Given the description of an element on the screen output the (x, y) to click on. 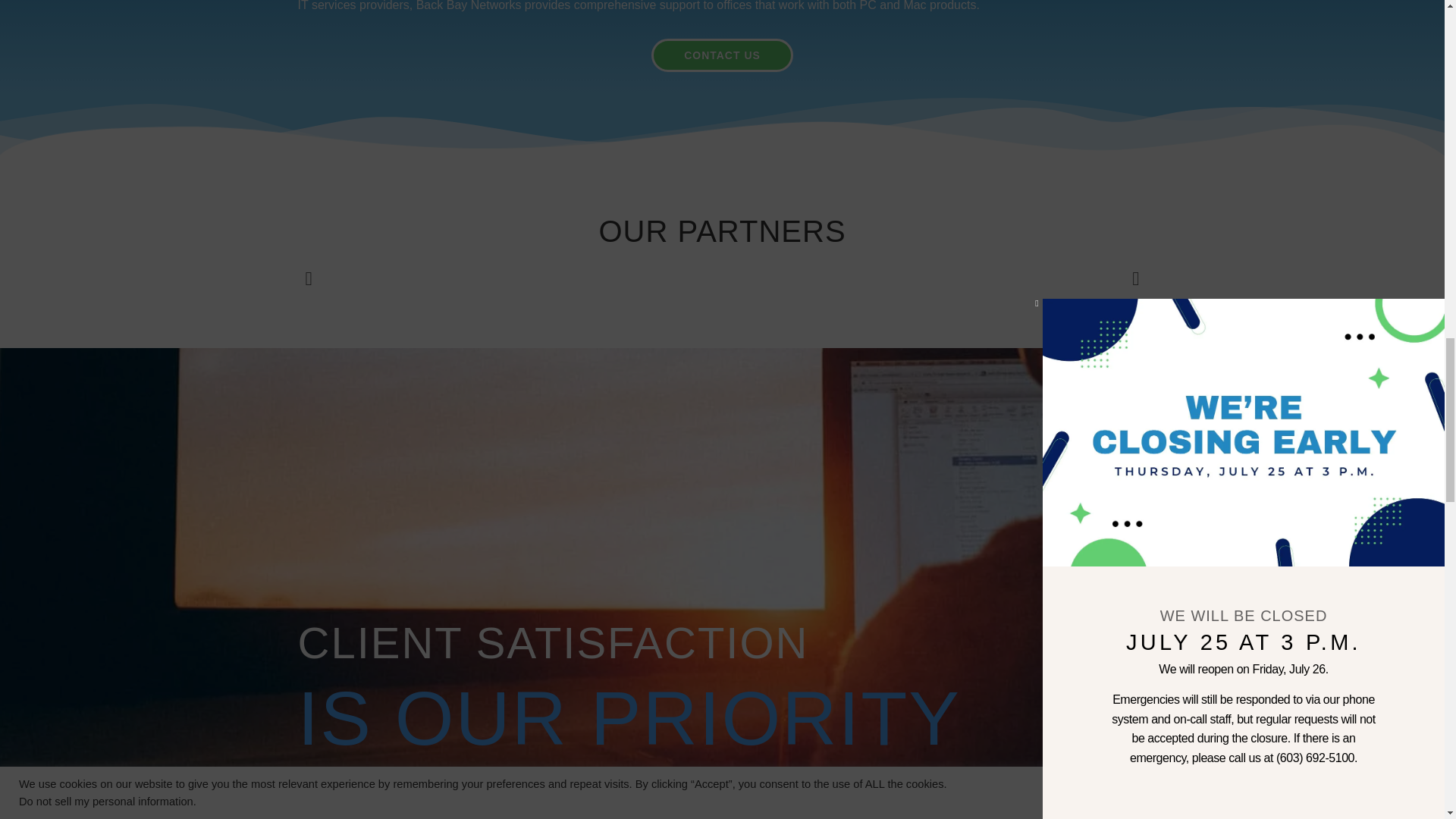
CONTACT US (721, 55)
